Given the description of an element on the screen output the (x, y) to click on. 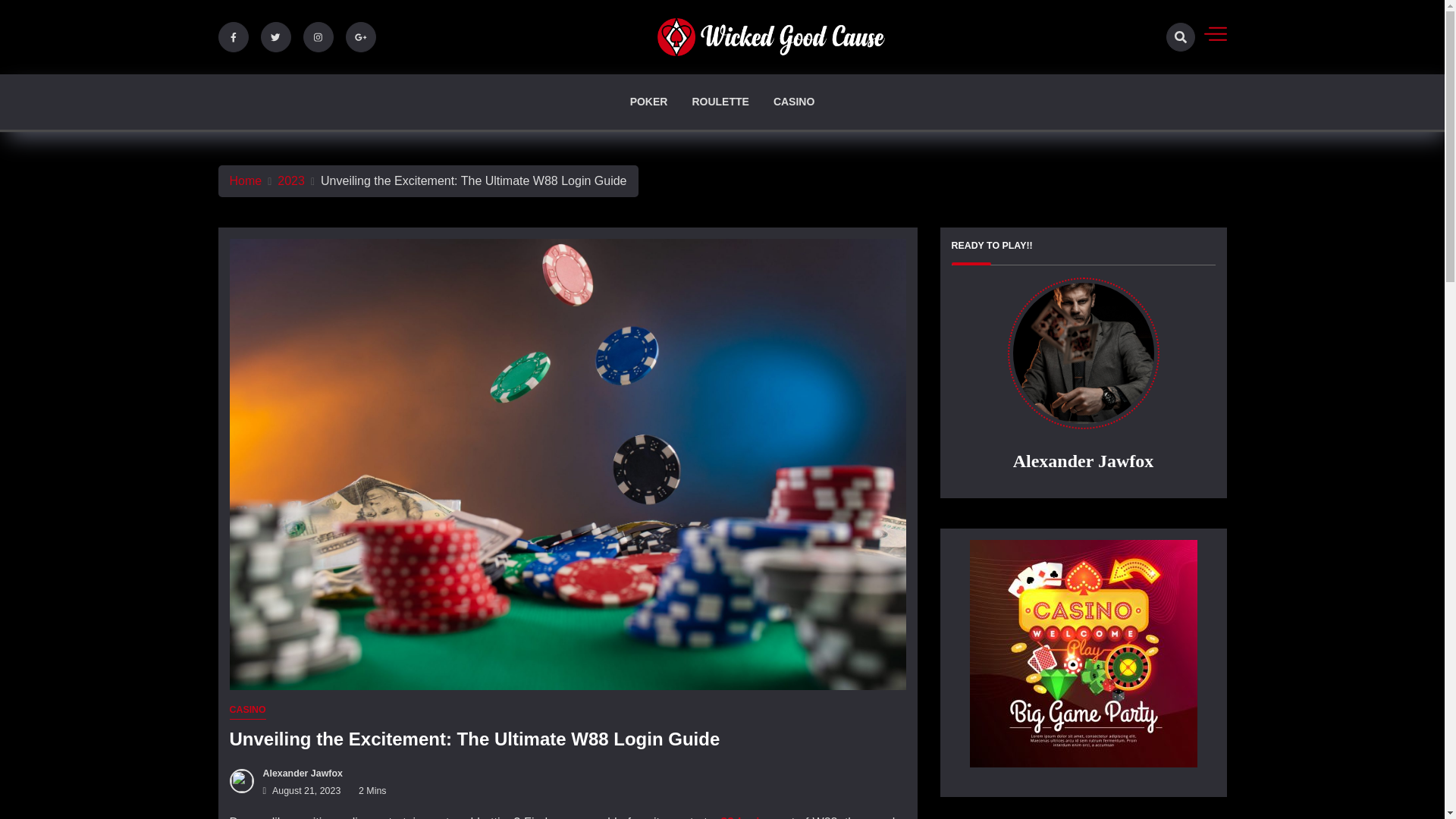
Search (1150, 90)
CASINO (246, 710)
w88 login (739, 817)
Home (245, 180)
Wicked Good Cause (841, 93)
Alexander Jawfox (299, 773)
POKER (649, 101)
ROULETTE (719, 101)
CASINO (793, 101)
August 21, 2023 (298, 790)
2023 (291, 180)
